Given the description of an element on the screen output the (x, y) to click on. 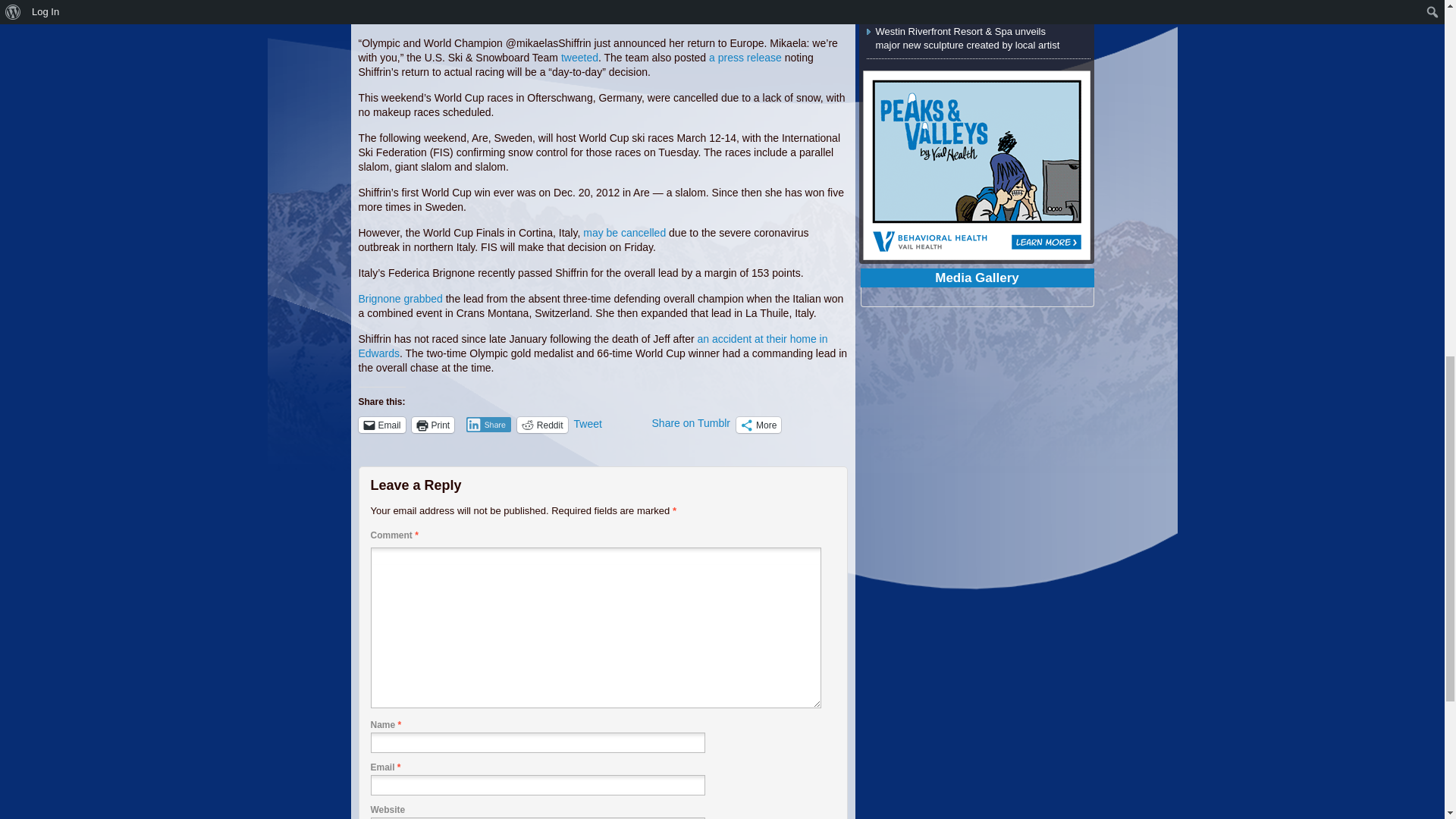
tweeted (579, 57)
Share on Tumblr (691, 423)
Reddit (541, 424)
Click to print (433, 424)
Click to share on Reddit (541, 424)
Print (433, 424)
Click to email a link to a friend (381, 424)
Email (381, 424)
Brignone grabbed (400, 298)
Share (488, 424)
may be cancelled (624, 232)
an accident at their home in Edwards (592, 345)
a press release (745, 57)
